Given the description of an element on the screen output the (x, y) to click on. 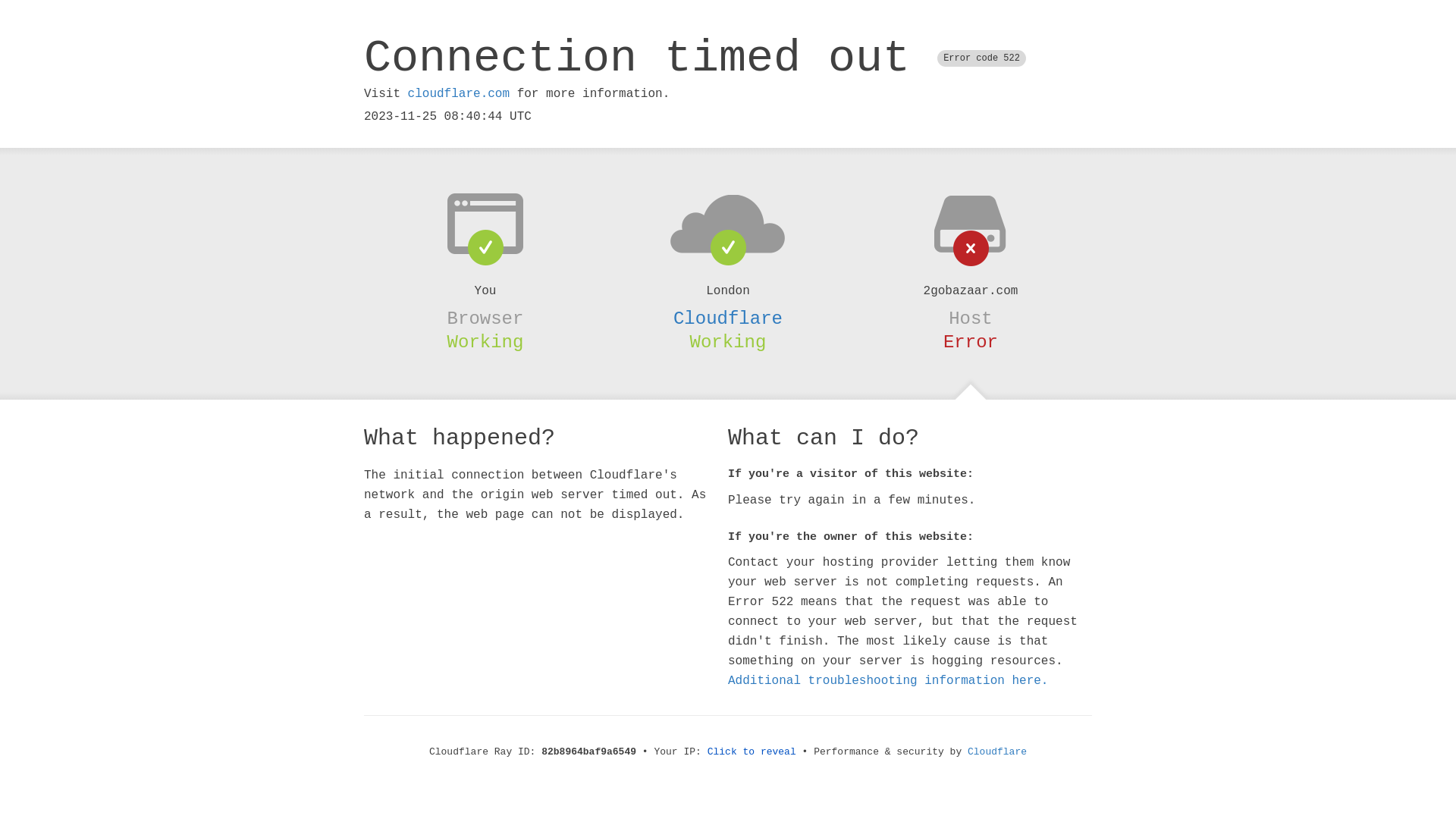
Additional troubleshooting information here. Element type: text (888, 680)
Click to reveal Element type: text (751, 751)
Cloudflare Element type: text (727, 318)
cloudflare.com Element type: text (458, 93)
Cloudflare Element type: text (996, 751)
